Given the description of an element on the screen output the (x, y) to click on. 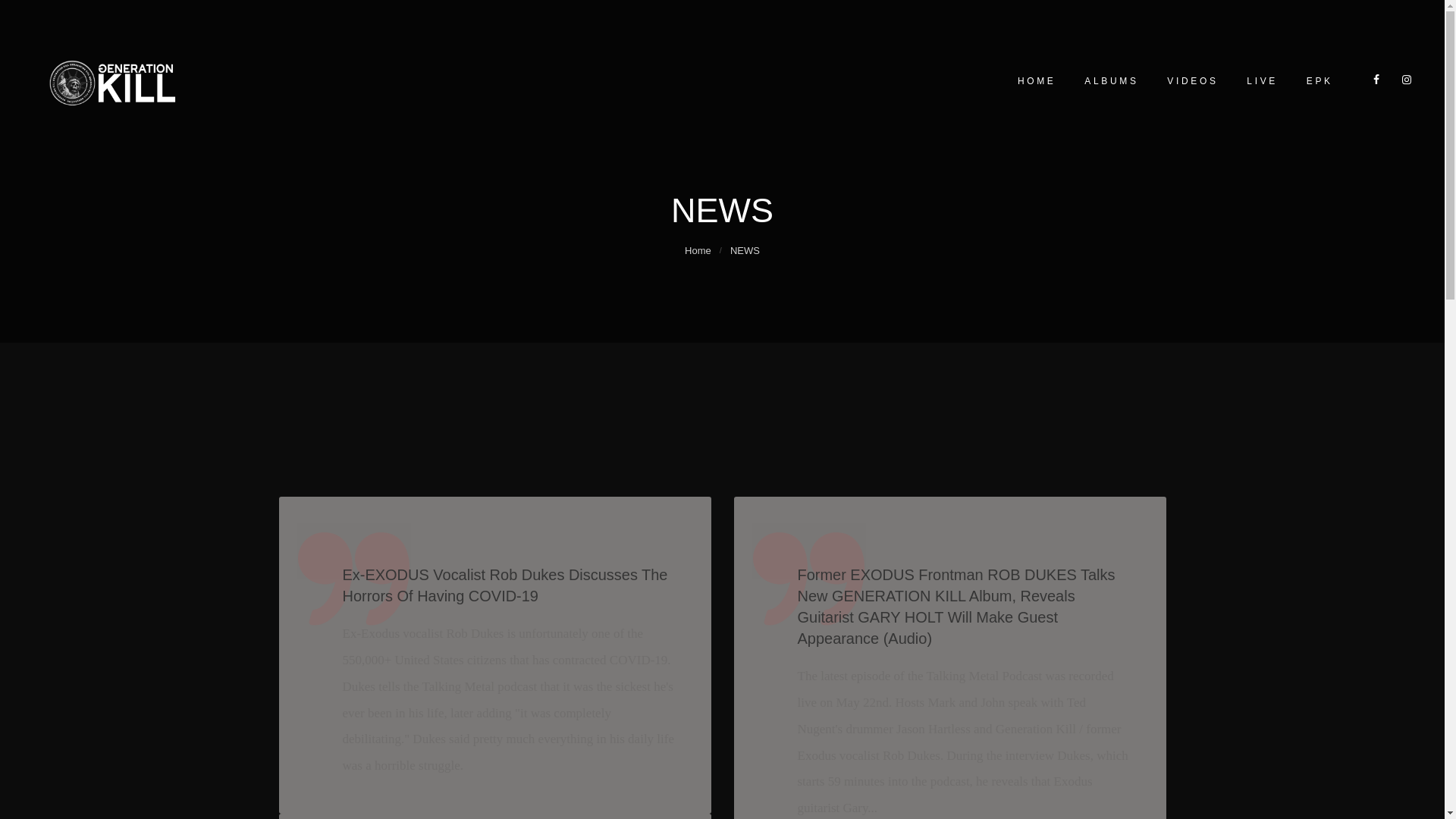
VIDEOS Element type: text (1191, 80)
EPK Element type: text (1317, 80)
Home Element type: text (697, 250)
ALBUMS Element type: text (1110, 80)
HOME Element type: text (1035, 80)
LIVE Element type: text (1260, 80)
